Given the description of an element on the screen output the (x, y) to click on. 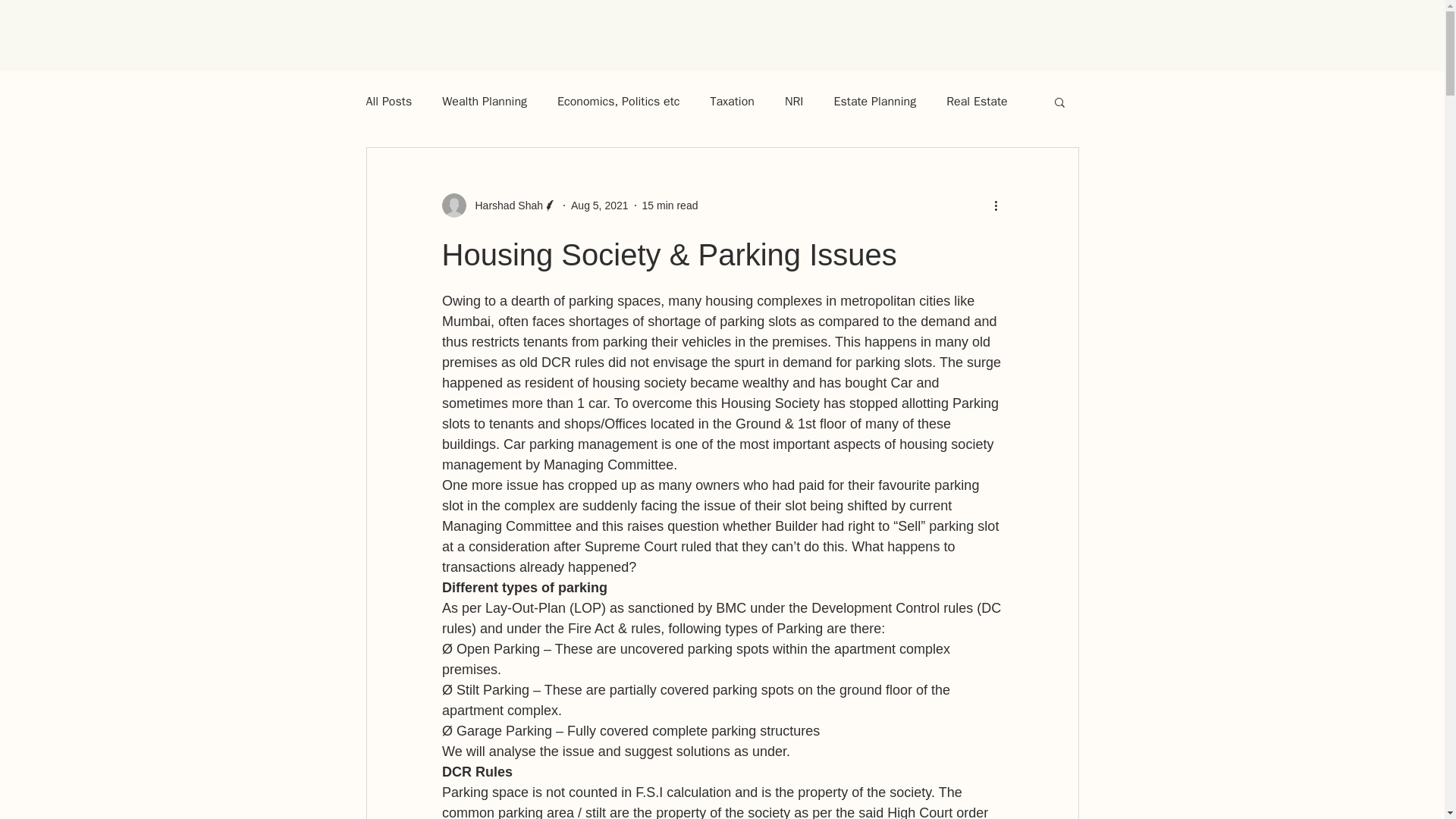
Estate Planning (875, 101)
Harshad Shah (504, 204)
All Posts (388, 101)
Real Estate (976, 101)
NRI (793, 101)
15 min read (670, 204)
Wealth Planning (484, 101)
Taxation (732, 101)
Economics, Politics etc (618, 101)
Harshad Shah (499, 205)
